Given the description of an element on the screen output the (x, y) to click on. 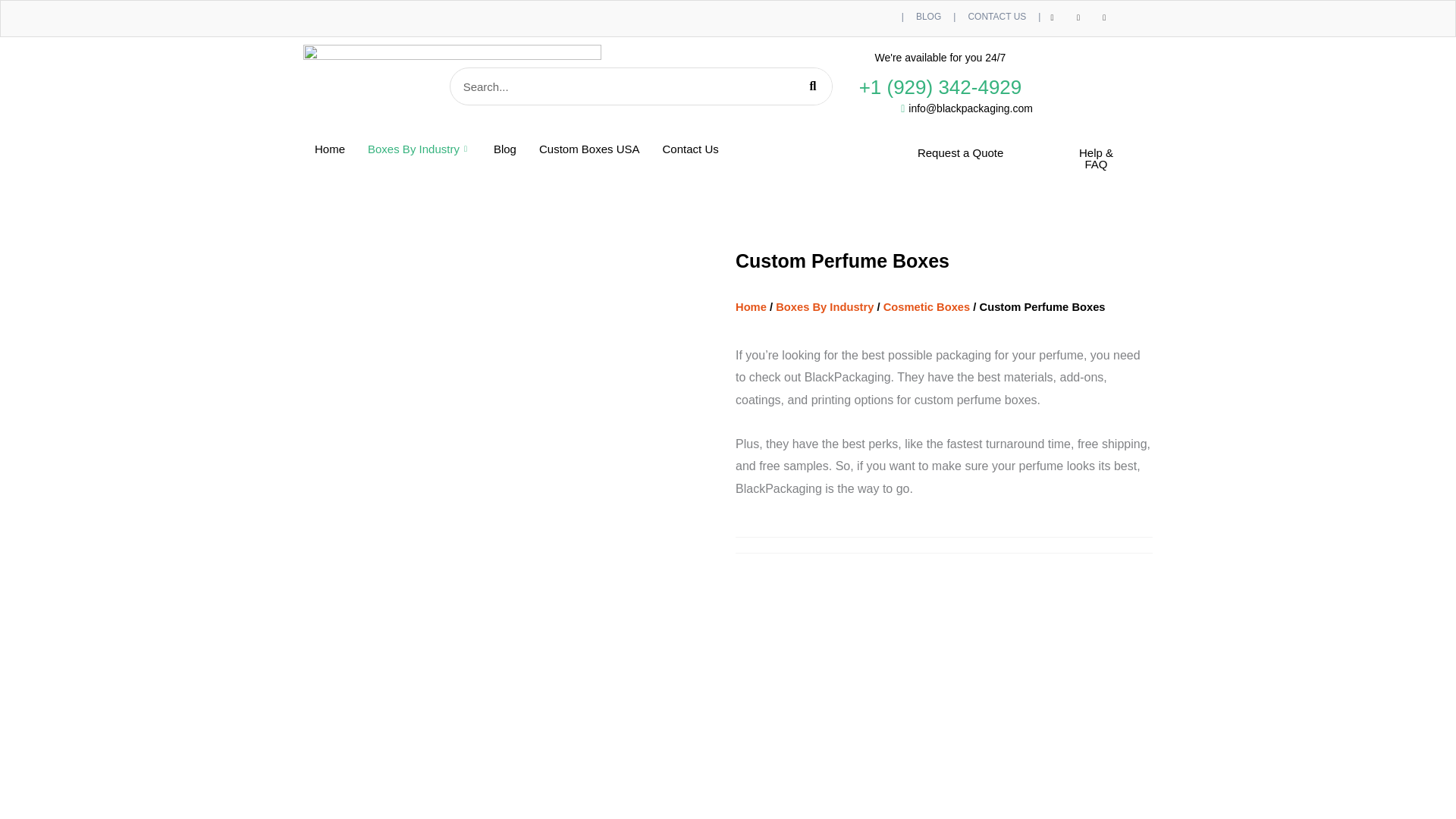
Search (812, 85)
Home (329, 148)
BLOG (927, 16)
Boxes By Industry (418, 148)
CONTACT US (997, 16)
Search (621, 85)
